Given the description of an element on the screen output the (x, y) to click on. 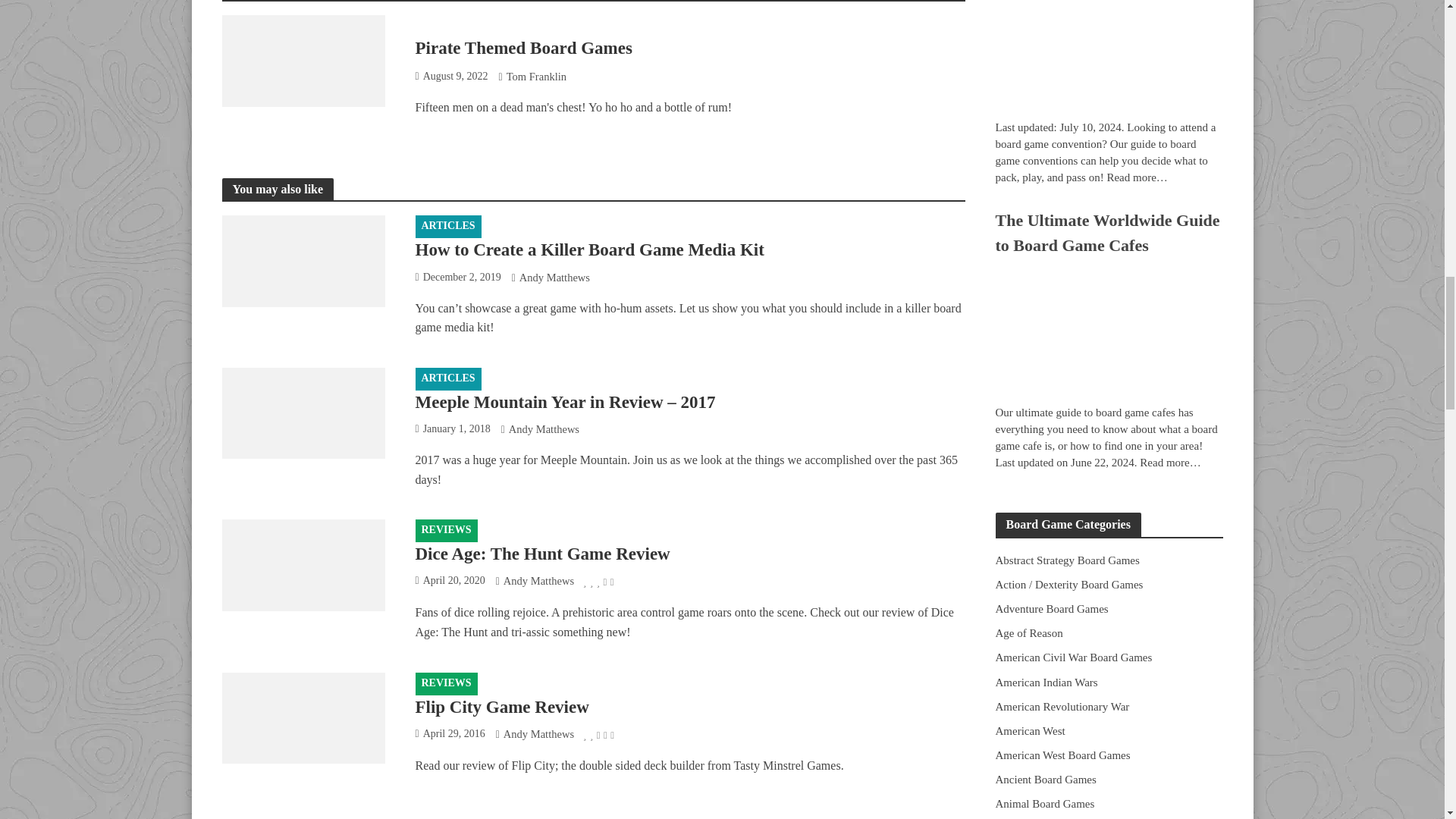
Flip City Game Review (302, 716)
Dice Age: The Hunt Game Review (302, 563)
Pirate Themed Board Games (302, 59)
How to Create a Killer Board Game Media Kit (302, 259)
